Given the description of an element on the screen output the (x, y) to click on. 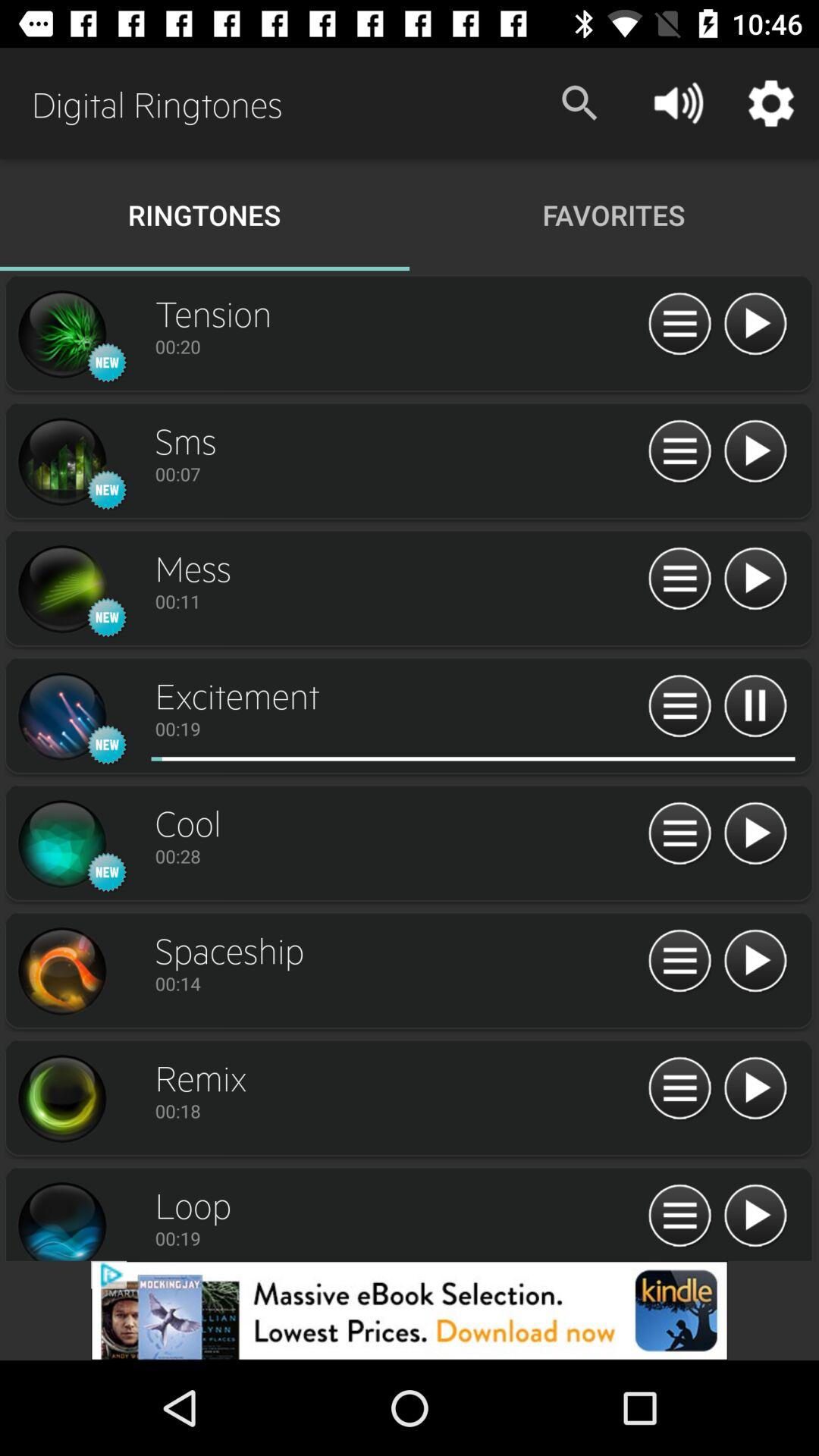
open ringtone menu (679, 1088)
